Given the description of an element on the screen output the (x, y) to click on. 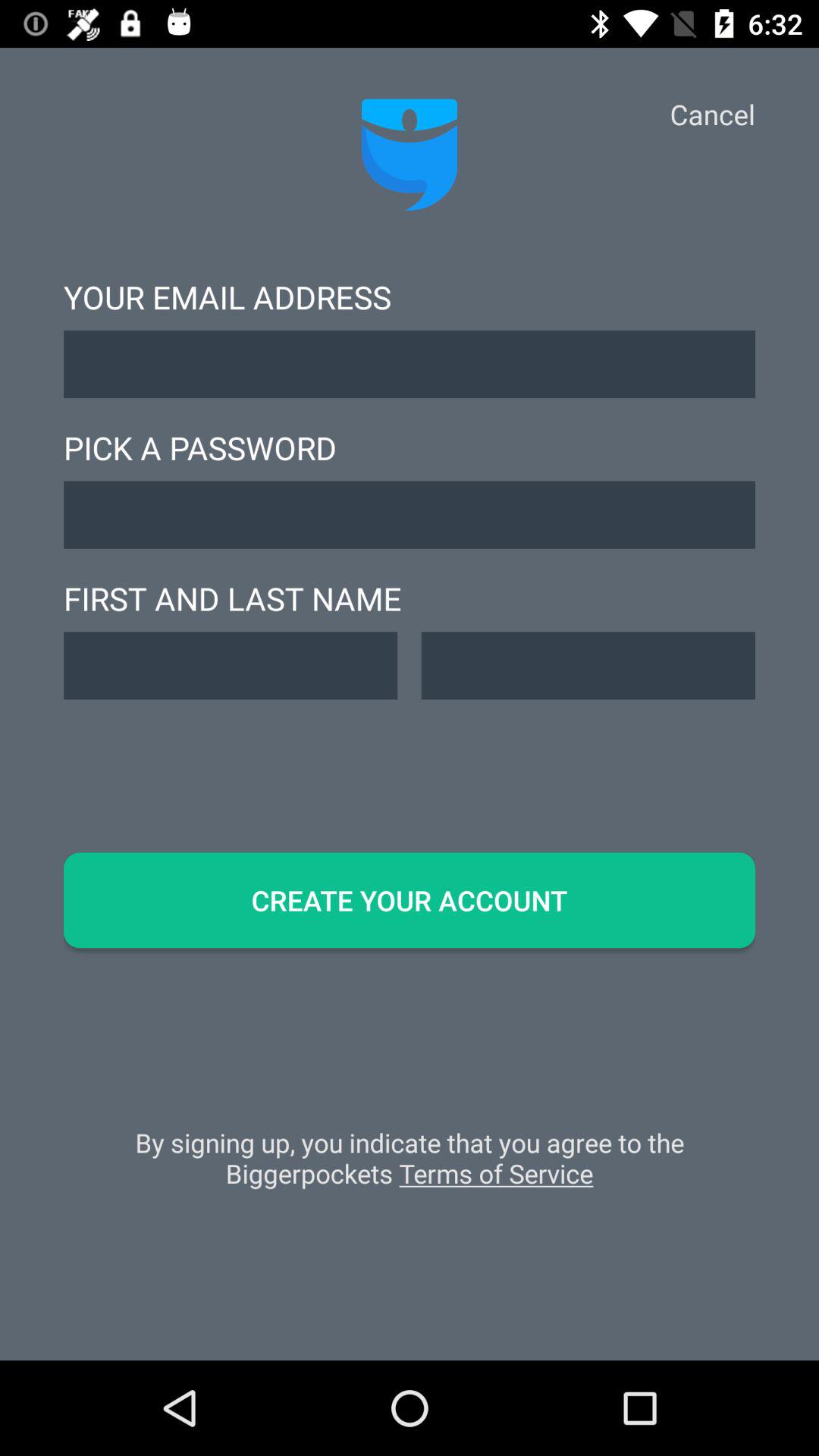
flip to the create your account (409, 900)
